Given the description of an element on the screen output the (x, y) to click on. 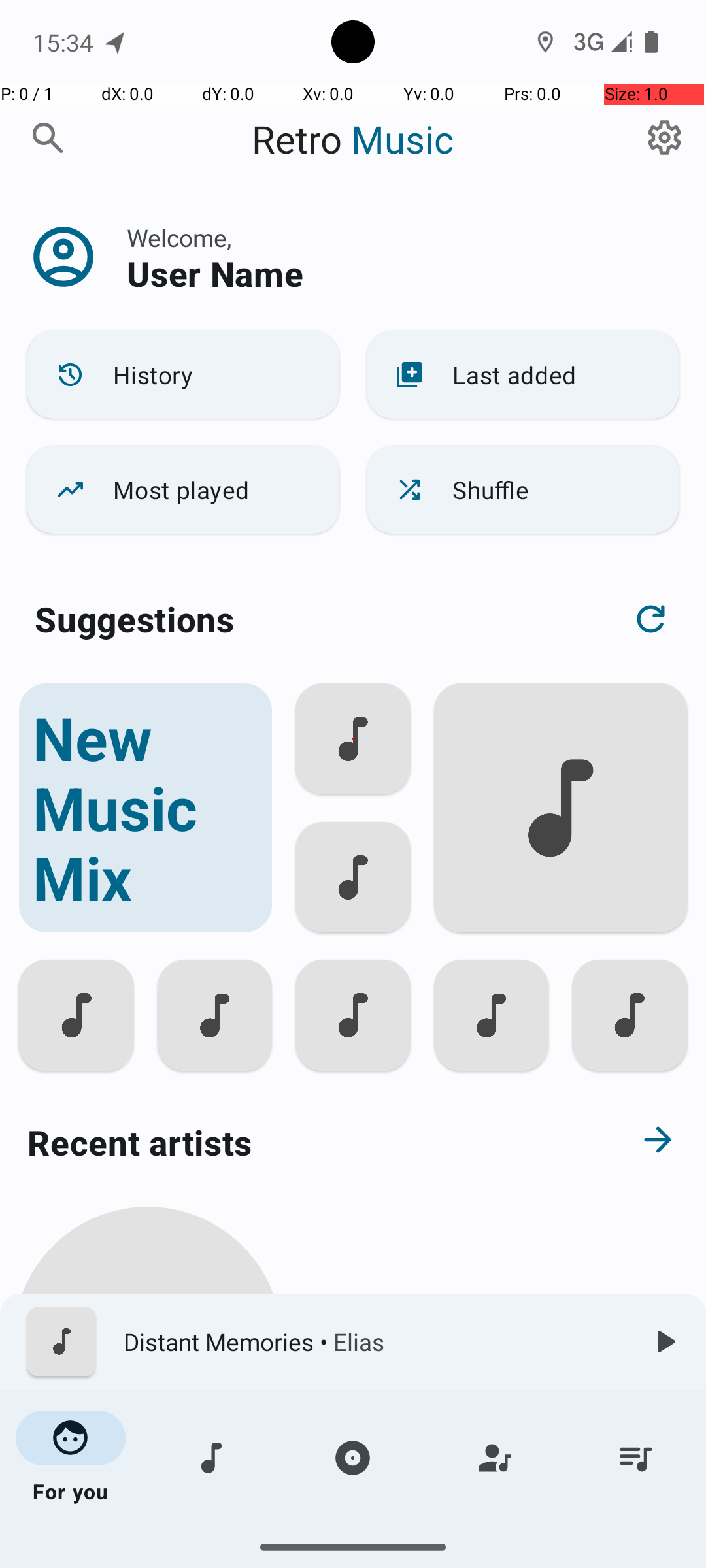
Distant Memories • Elias Element type: android.widget.TextView (372, 1341)
Emilia Element type: android.widget.TextView (147, 1503)
